Given the description of an element on the screen output the (x, y) to click on. 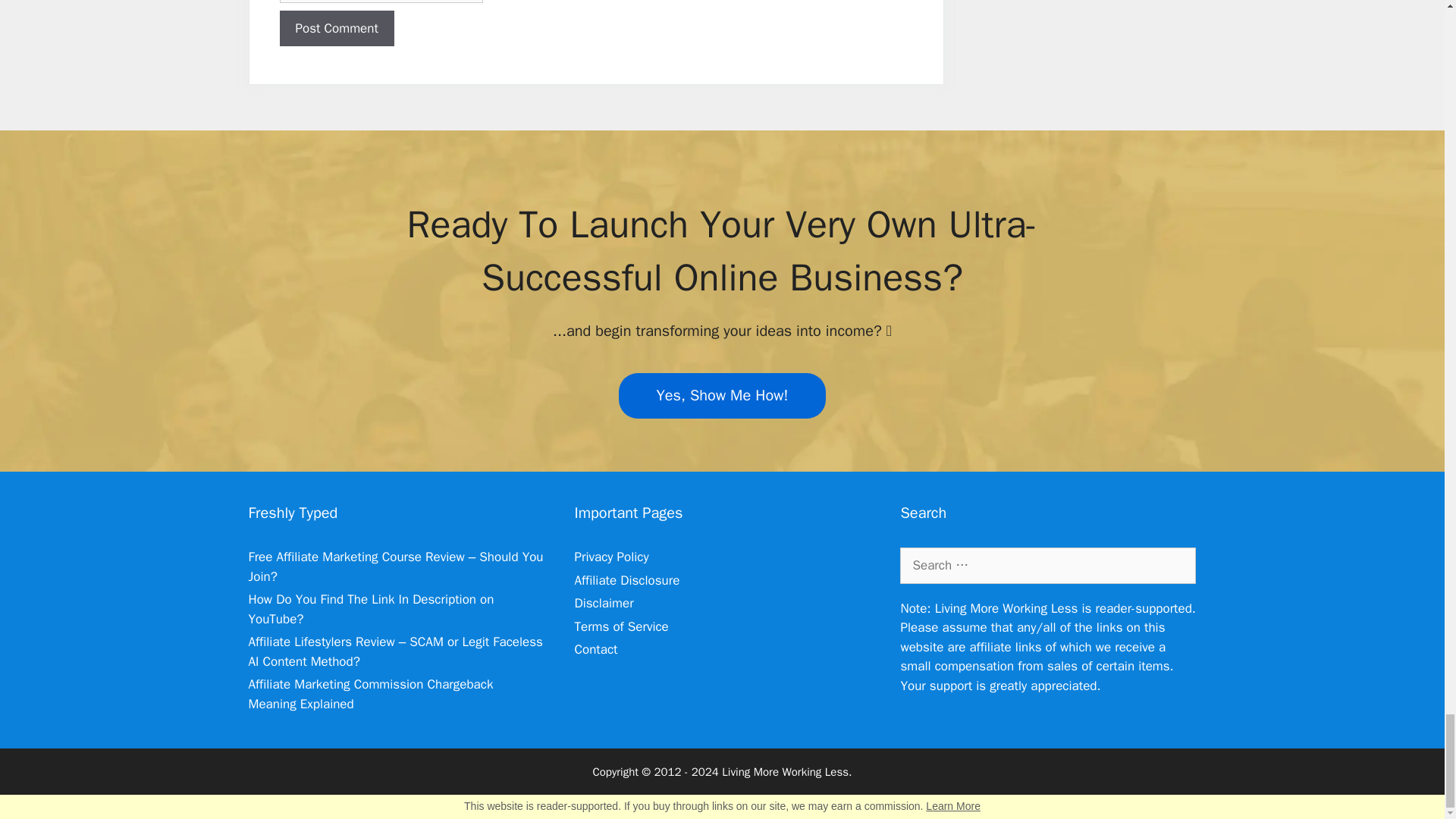
Post Comment (336, 28)
Post Comment (336, 28)
Search for: (1047, 565)
